Given the description of an element on the screen output the (x, y) to click on. 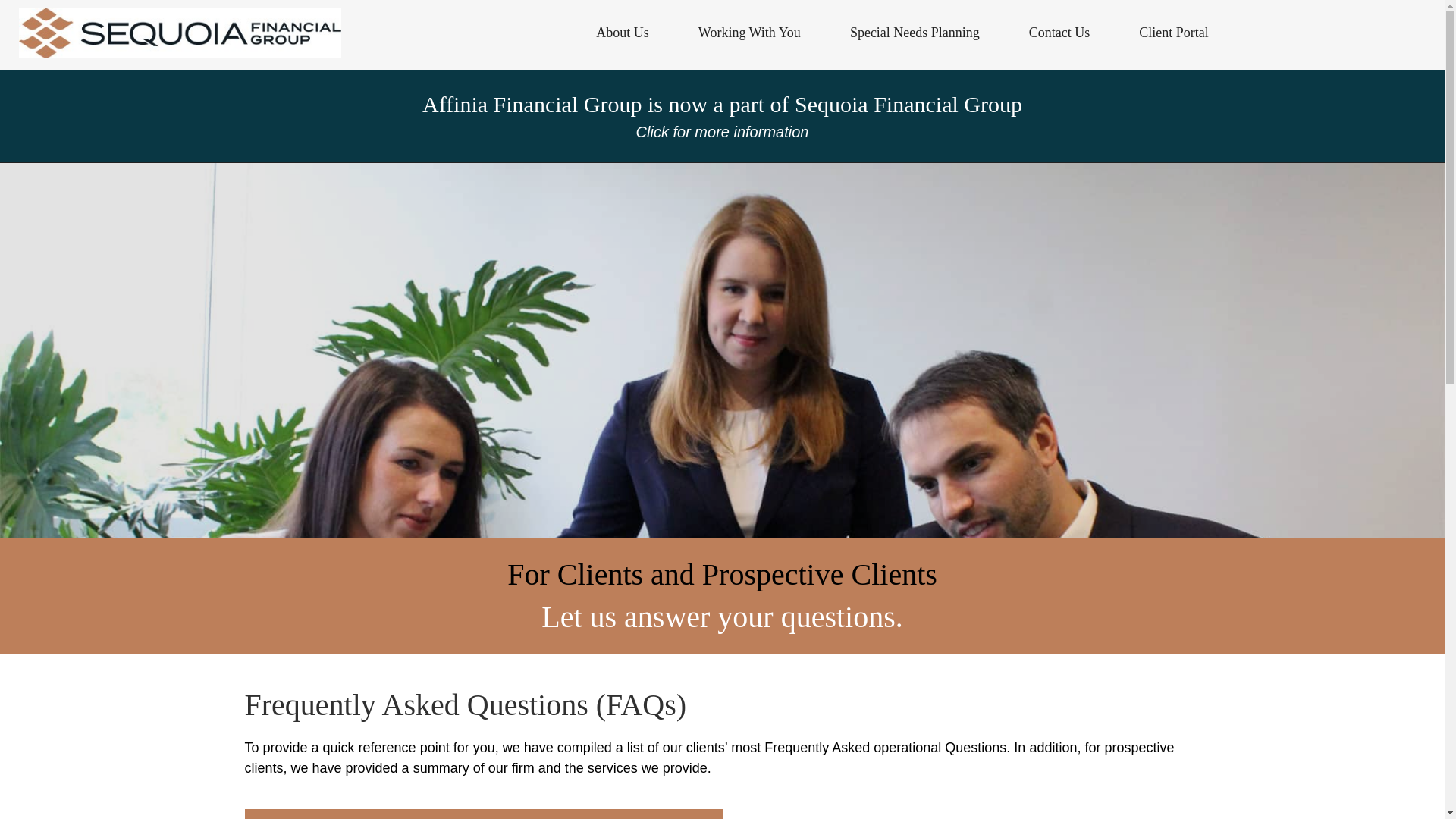
Contact Us (1057, 32)
About Us (620, 32)
Client Portal (1172, 32)
Working With You (747, 32)
Special Needs Planning (912, 32)
sequoia-financial-logo-new (179, 32)
